Given the description of an element on the screen output the (x, y) to click on. 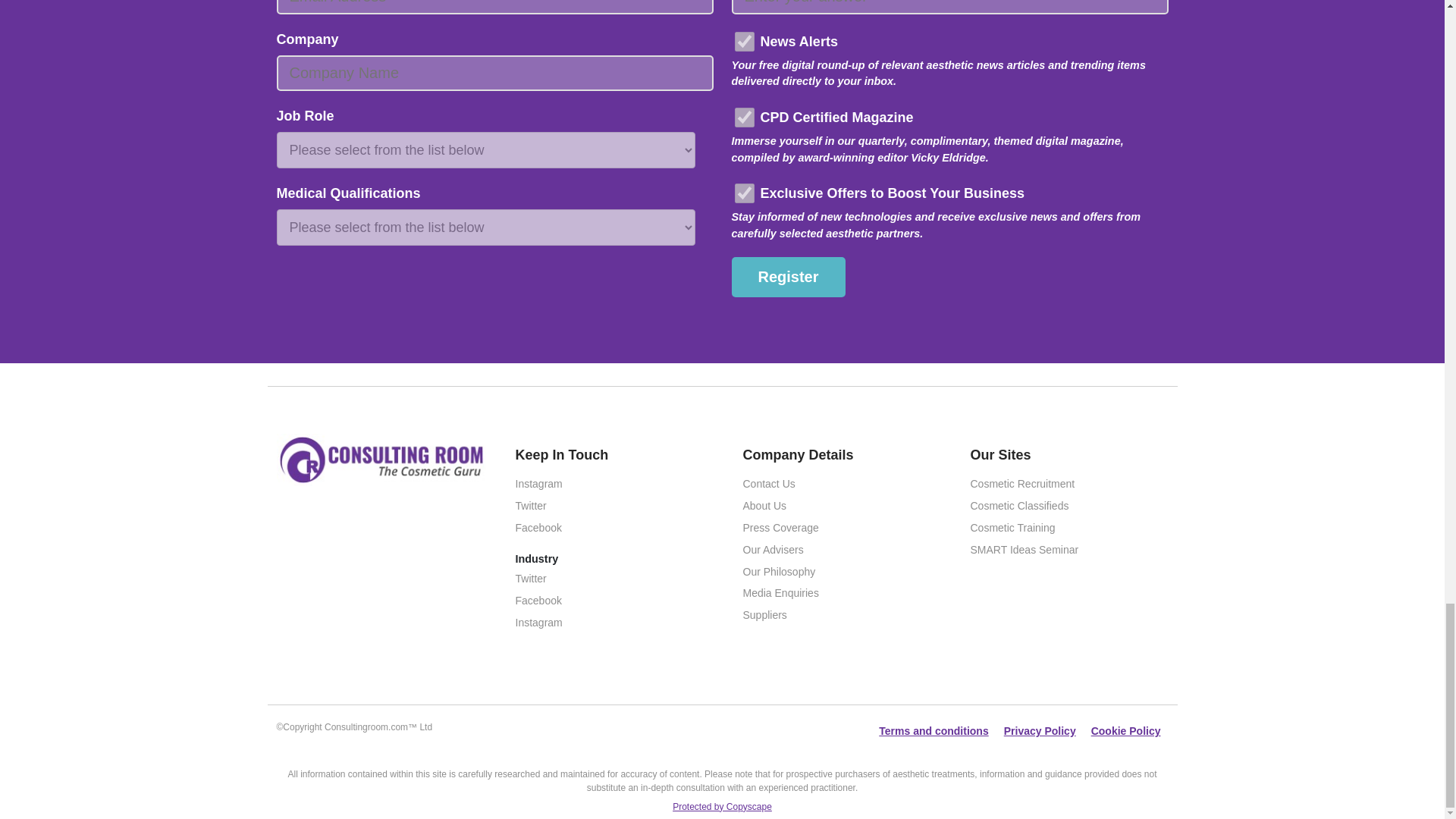
Register (787, 277)
on (743, 193)
on (743, 117)
on (743, 41)
